Given the description of an element on the screen output the (x, y) to click on. 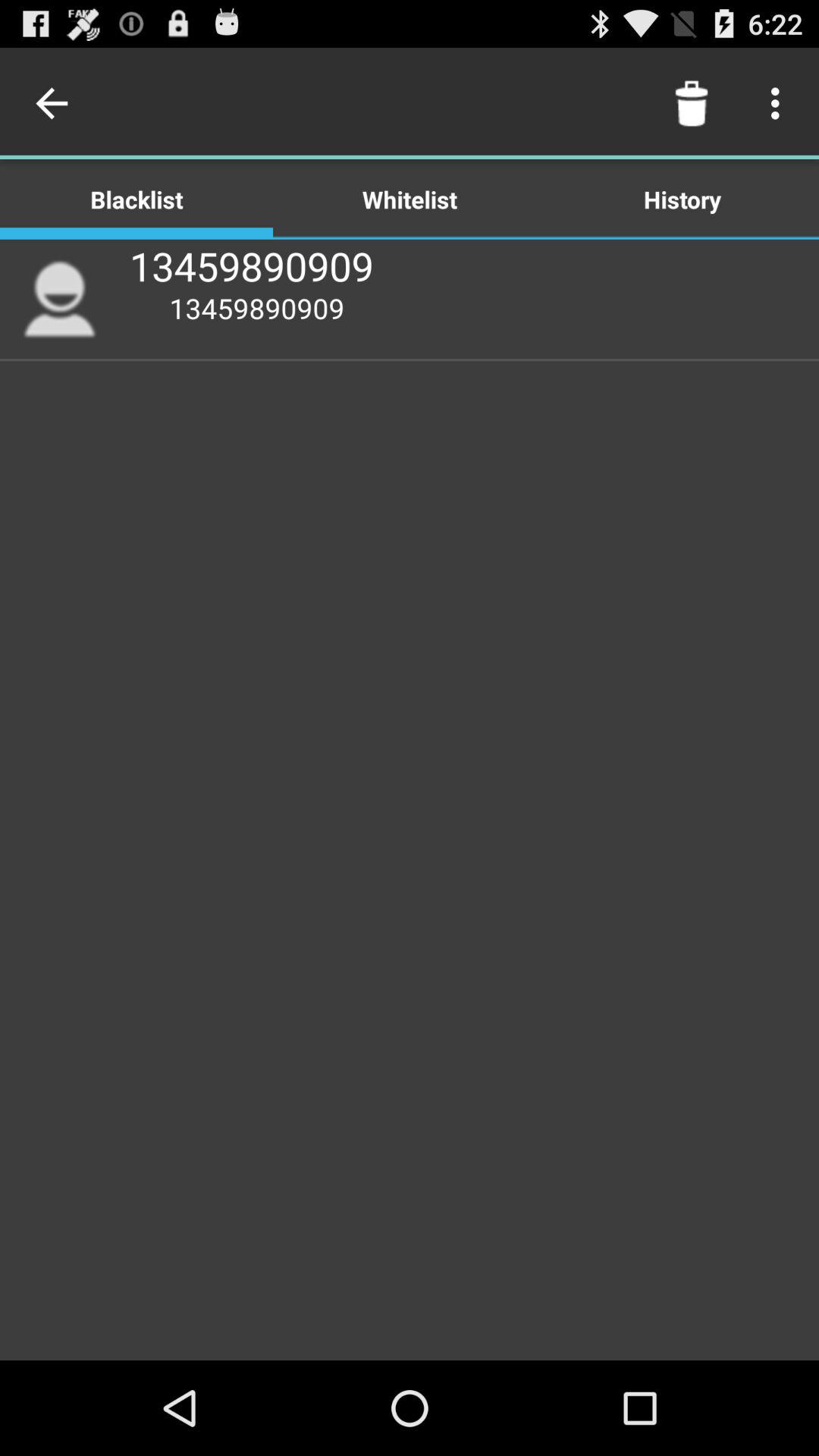
click icon above the history (691, 103)
